Given the description of an element on the screen output the (x, y) to click on. 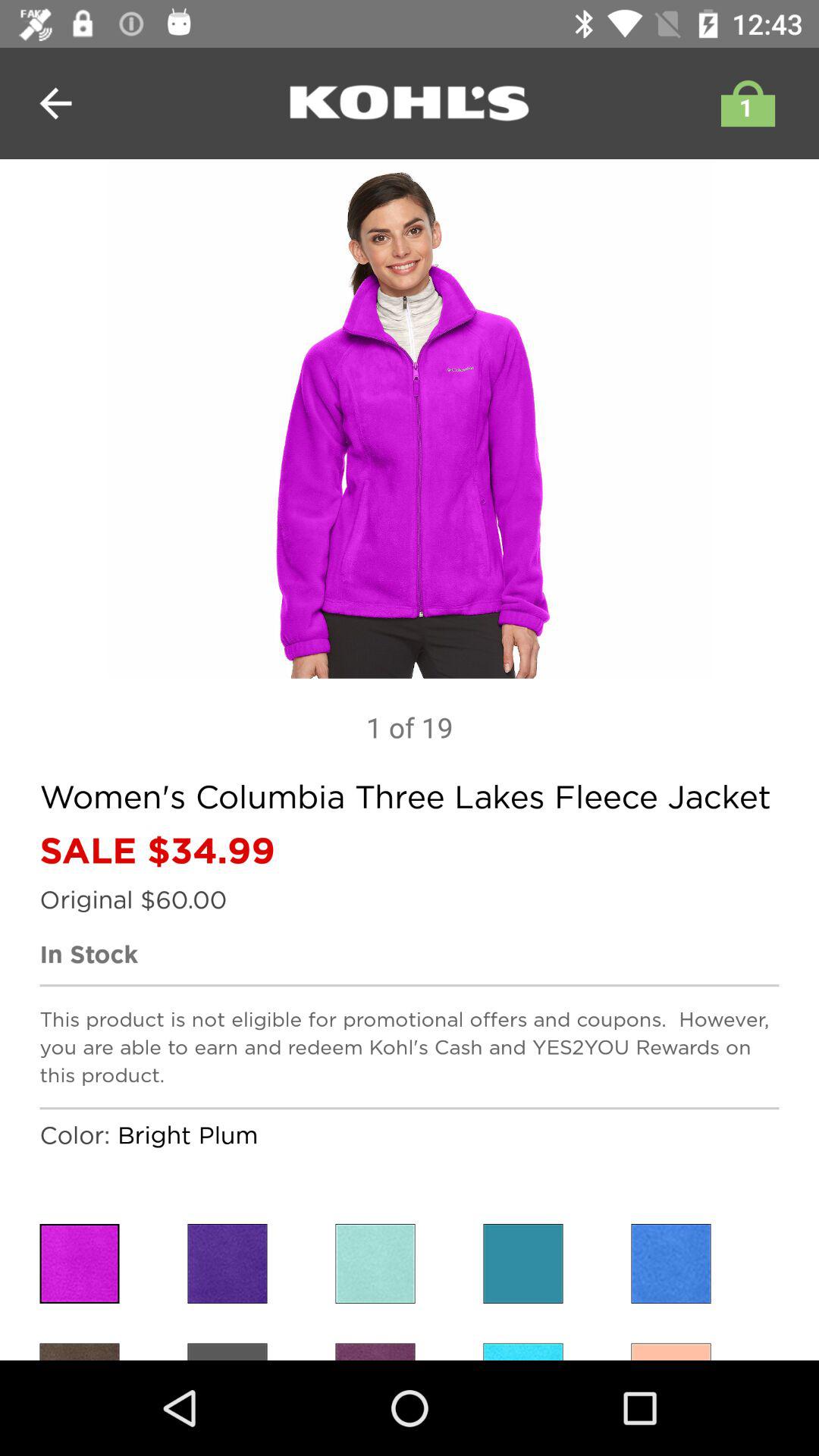
open shopping bag (744, 103)
